Given the description of an element on the screen output the (x, y) to click on. 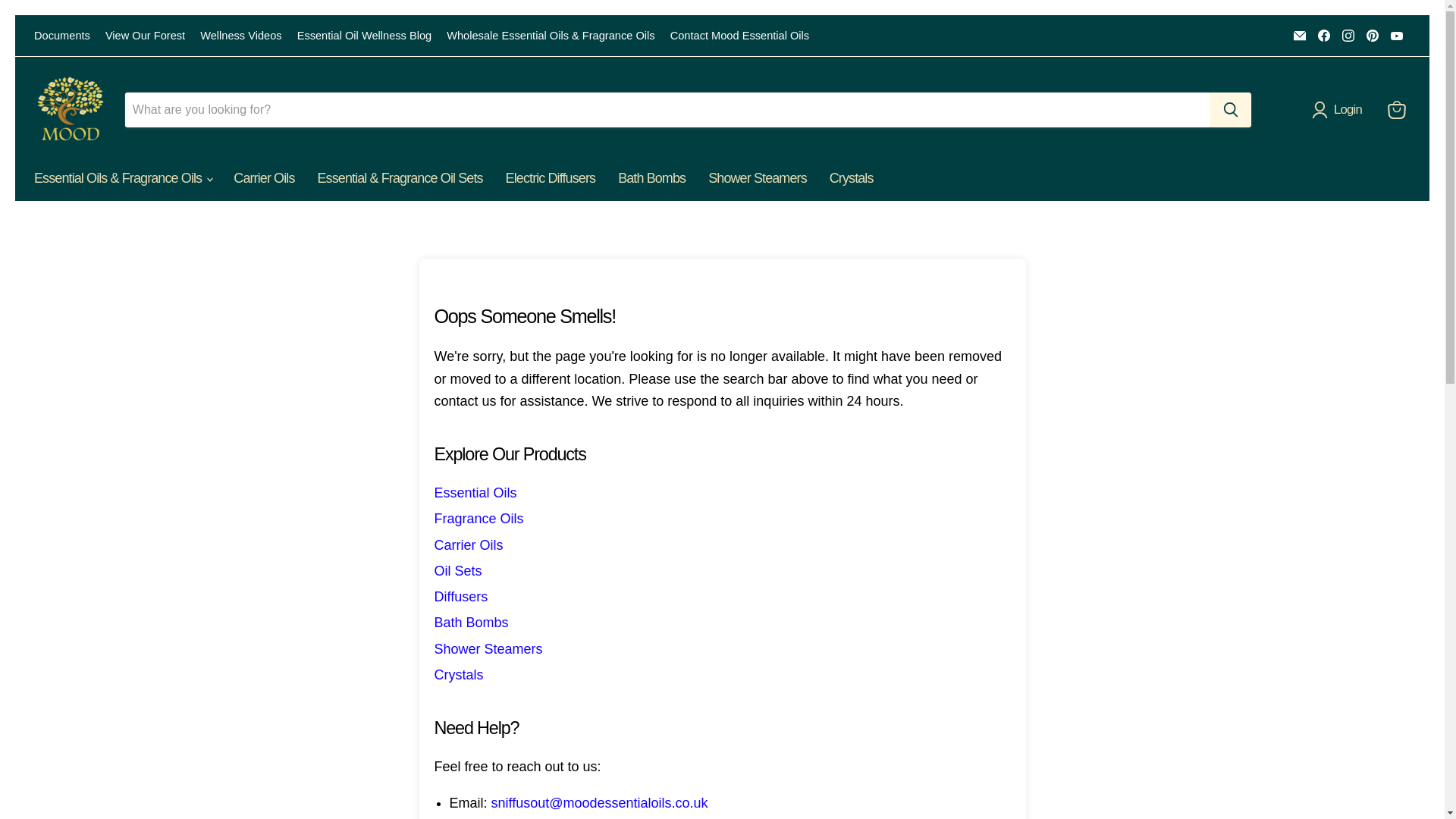
Find us on YouTube (1396, 35)
View Our Forest (144, 35)
Login (1339, 109)
Email (1299, 35)
Bath Bombs (652, 177)
Wellness Videos (240, 35)
Email Mood Essential Oils (1299, 35)
YouTube (1396, 35)
Crystals (851, 177)
Contact Mood Essential Oils (739, 35)
